Given the description of an element on the screen output the (x, y) to click on. 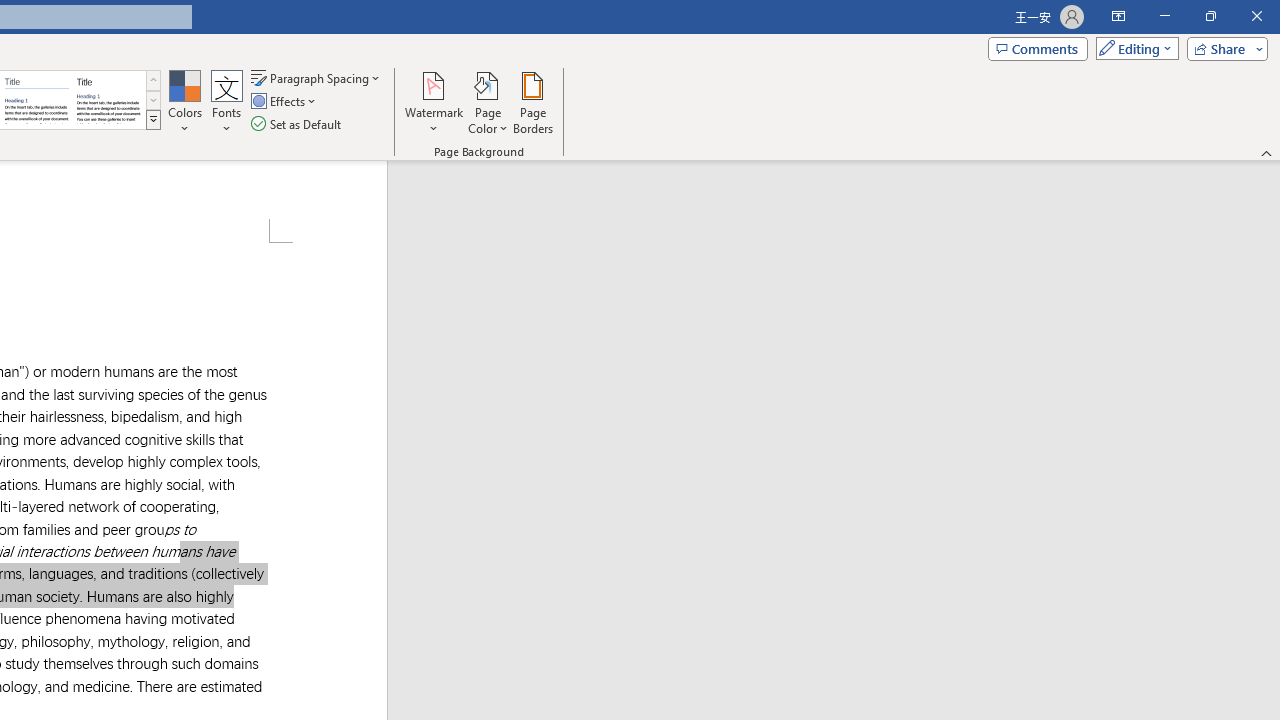
Word 2010 (36, 100)
Set as Default (298, 124)
Word 2013 (108, 100)
Watermark (434, 102)
Page Borders... (532, 102)
Fonts (227, 102)
Style Set (153, 120)
Page Color (487, 102)
